Given the description of an element on the screen output the (x, y) to click on. 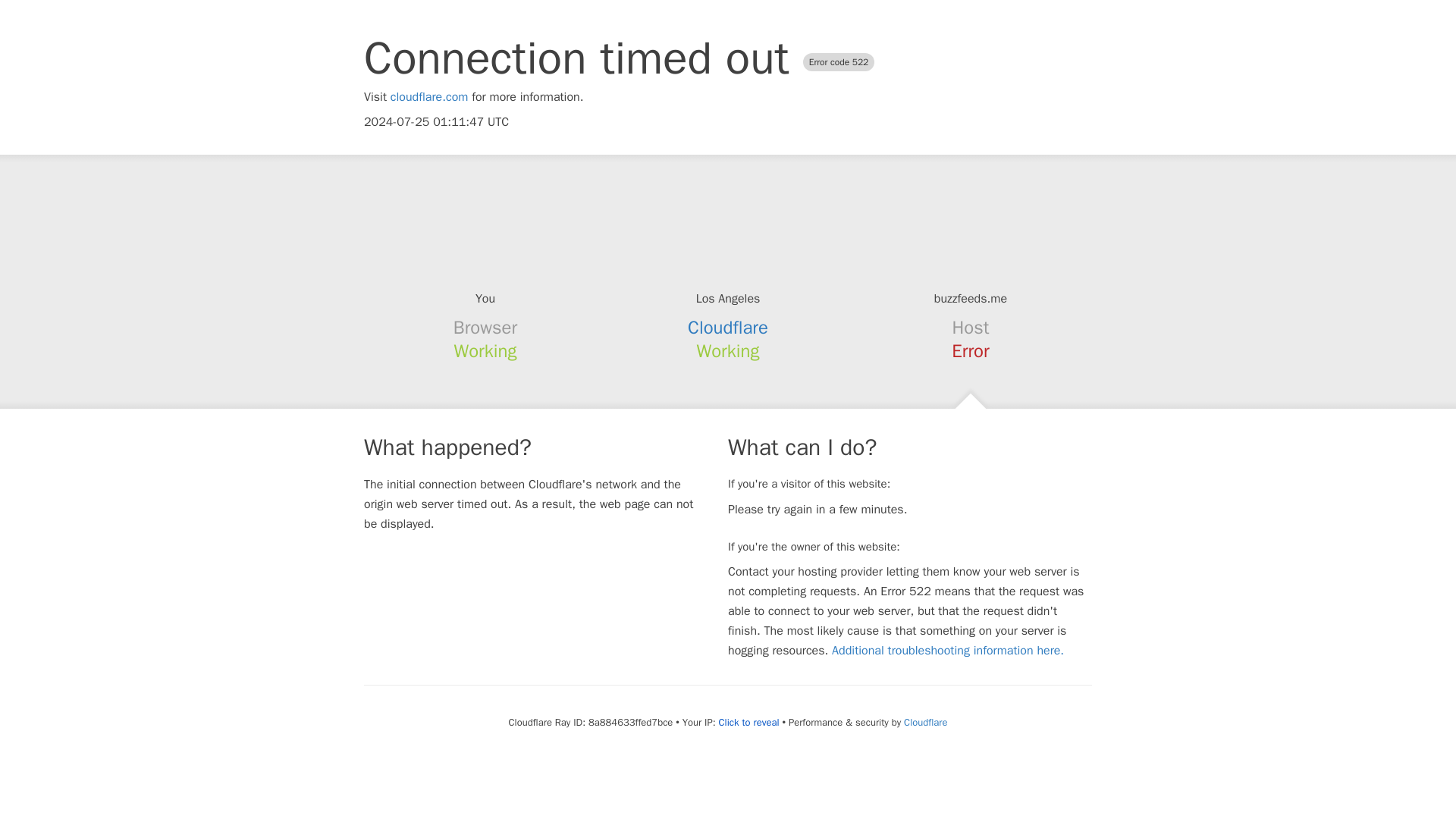
Additional troubleshooting information here. (947, 650)
Click to reveal (748, 722)
Cloudflare (727, 327)
Cloudflare (925, 721)
cloudflare.com (429, 96)
